Given the description of an element on the screen output the (x, y) to click on. 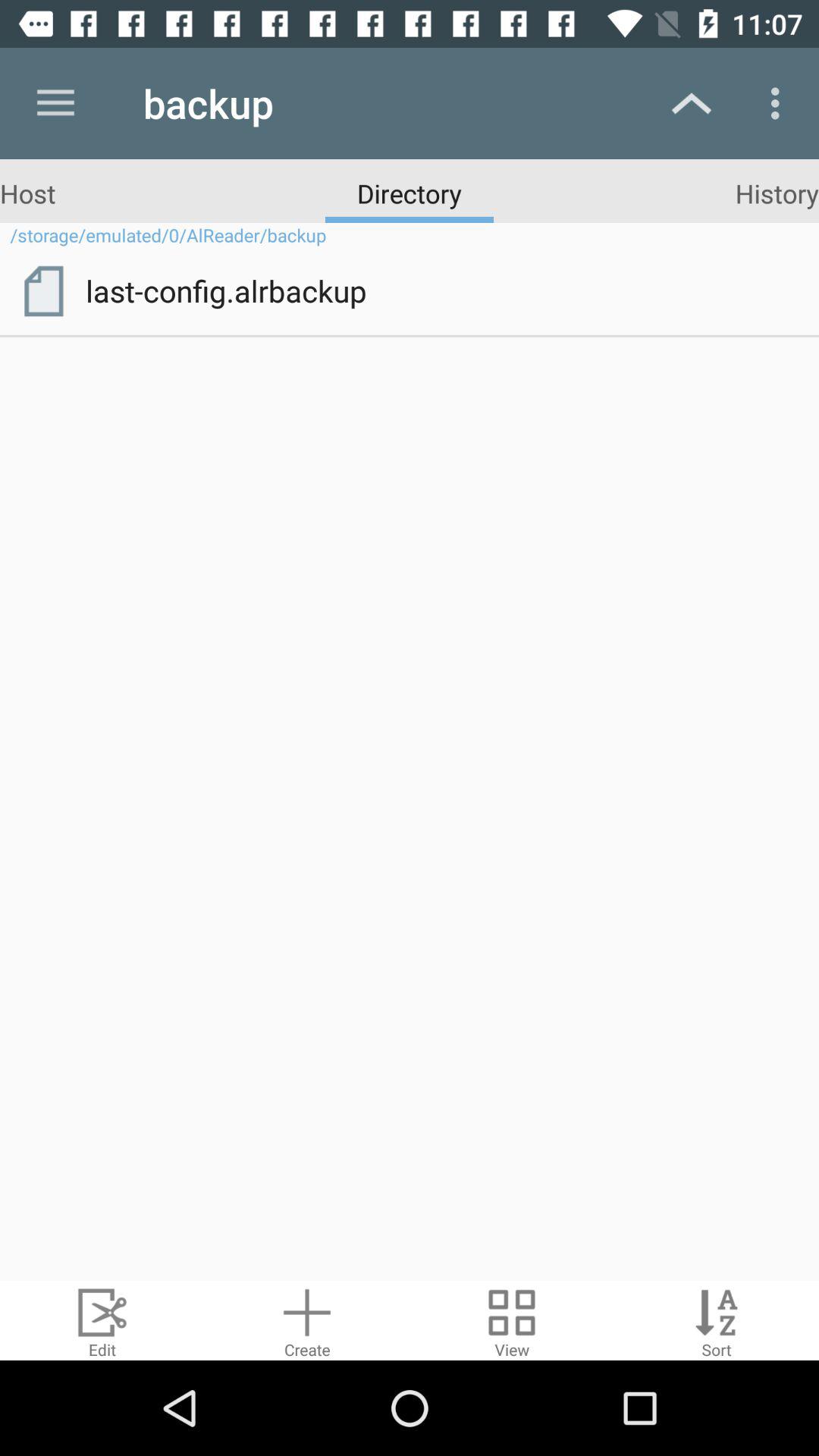
go to text (716, 1320)
